Given the description of an element on the screen output the (x, y) to click on. 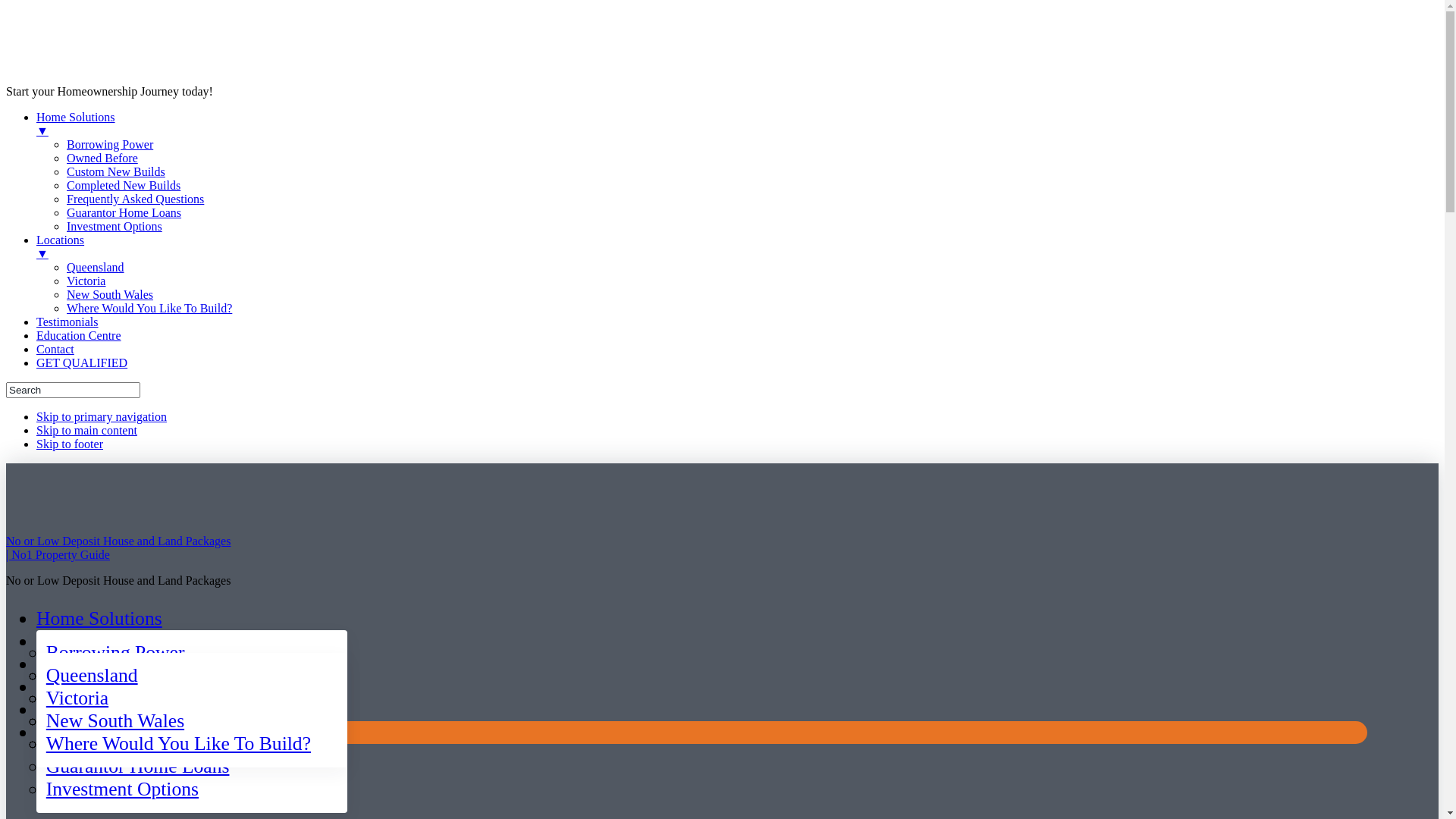
Queensland Element type: text (95, 266)
Skip to footer Element type: text (69, 443)
Investment Options Element type: text (114, 225)
Testimonials Element type: text (85, 663)
GET QUALIFIED Element type: text (81, 362)
Investment Options Element type: text (122, 789)
Victoria Element type: text (85, 280)
Completed New Builds Element type: text (123, 184)
GET QUALIFIED Element type: text (109, 732)
Education Centre Element type: text (103, 686)
Borrowing Power Element type: text (109, 144)
Frequently Asked Questions Element type: text (156, 743)
Skip to main content Element type: text (86, 429)
Guarantor Home Loans Element type: text (123, 212)
Owned Before Element type: text (102, 157)
Testimonials Element type: text (67, 321)
Contact Element type: text (55, 348)
Victoria Element type: text (77, 698)
New South Wales Element type: text (109, 294)
Skip to primary navigation Element type: text (101, 416)
Home Solutions Element type: text (99, 618)
Guarantor Home Loans Element type: text (137, 766)
Education Centre Element type: text (78, 335)
Borrowing Power Element type: text (115, 652)
New South Wales Element type: text (115, 720)
Where Would You Like To Build? Element type: text (178, 743)
Queensland Element type: text (92, 675)
Custom New Builds Element type: text (115, 171)
Locations Element type: text (74, 641)
Where Would You Like To Build? Element type: text (149, 307)
Frequently Asked Questions Element type: text (134, 198)
Owned Before Element type: text (103, 675)
Custom New Builds Element type: text (124, 698)
Completed New Builds Element type: text (137, 720)
Contact Element type: text (66, 709)
Search Element type: hover (73, 390)
